Given the description of an element on the screen output the (x, y) to click on. 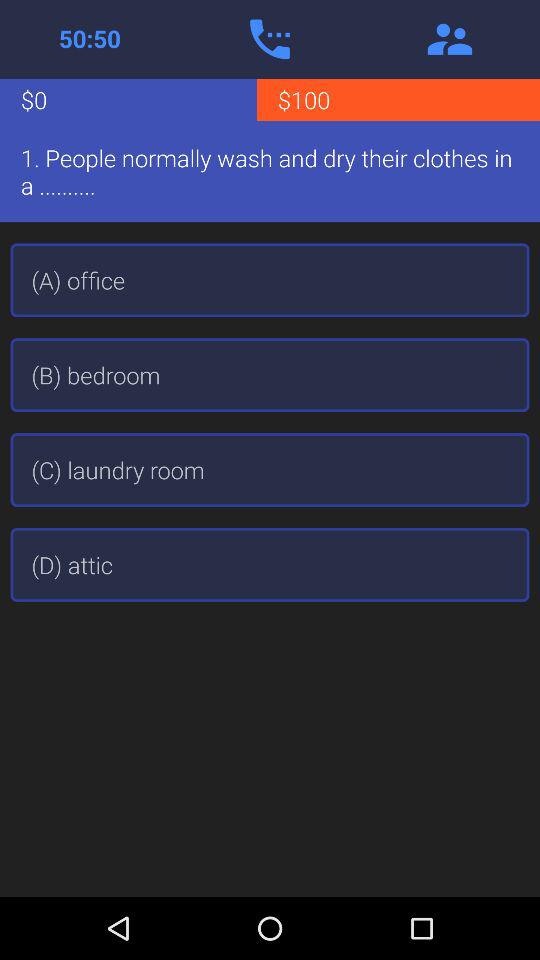
tap the item below (b) bedroom app (269, 469)
